Given the description of an element on the screen output the (x, y) to click on. 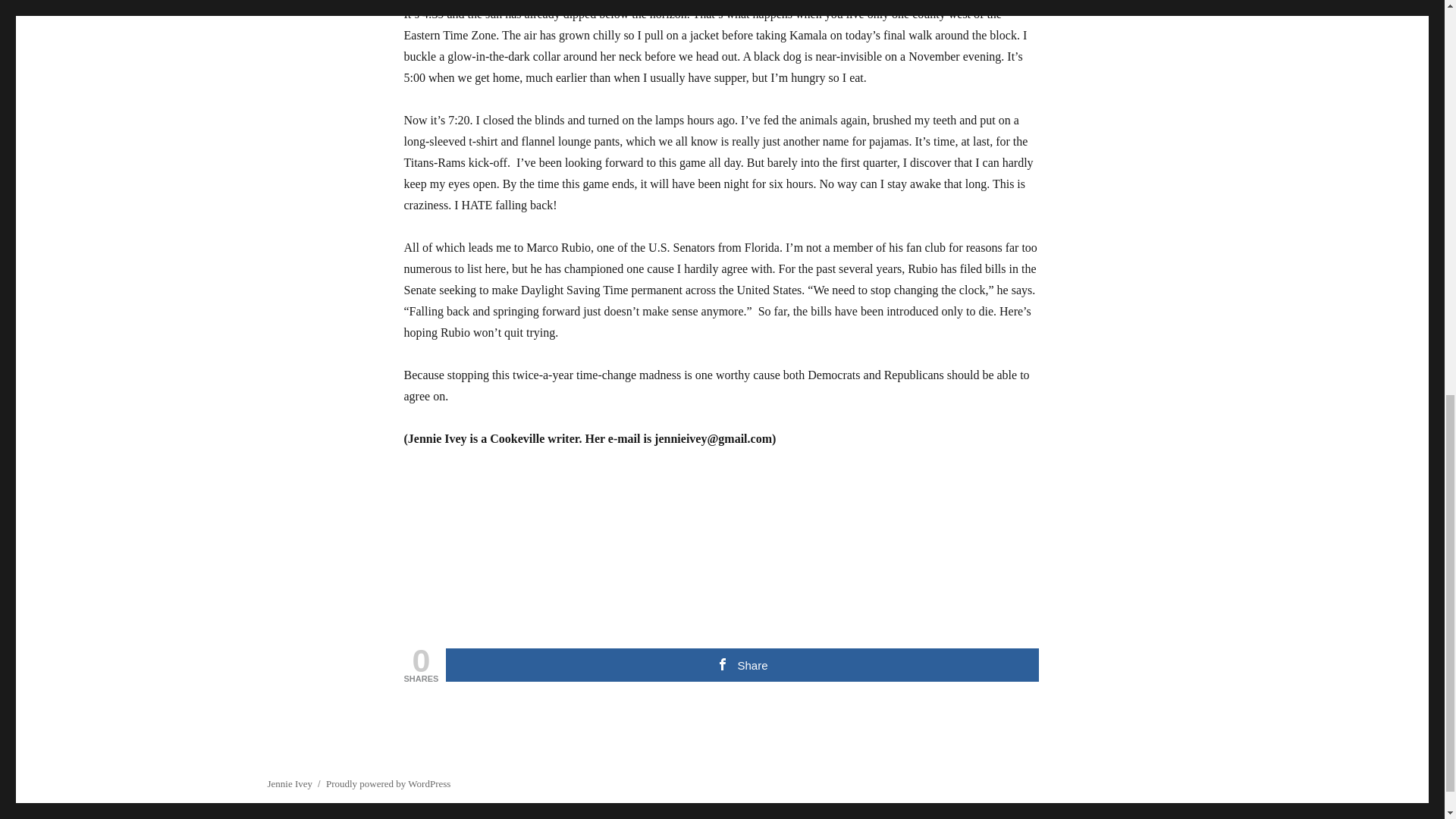
Jennie Ivey (289, 783)
Share (741, 664)
Proudly powered by WordPress (387, 783)
